Given the description of an element on the screen output the (x, y) to click on. 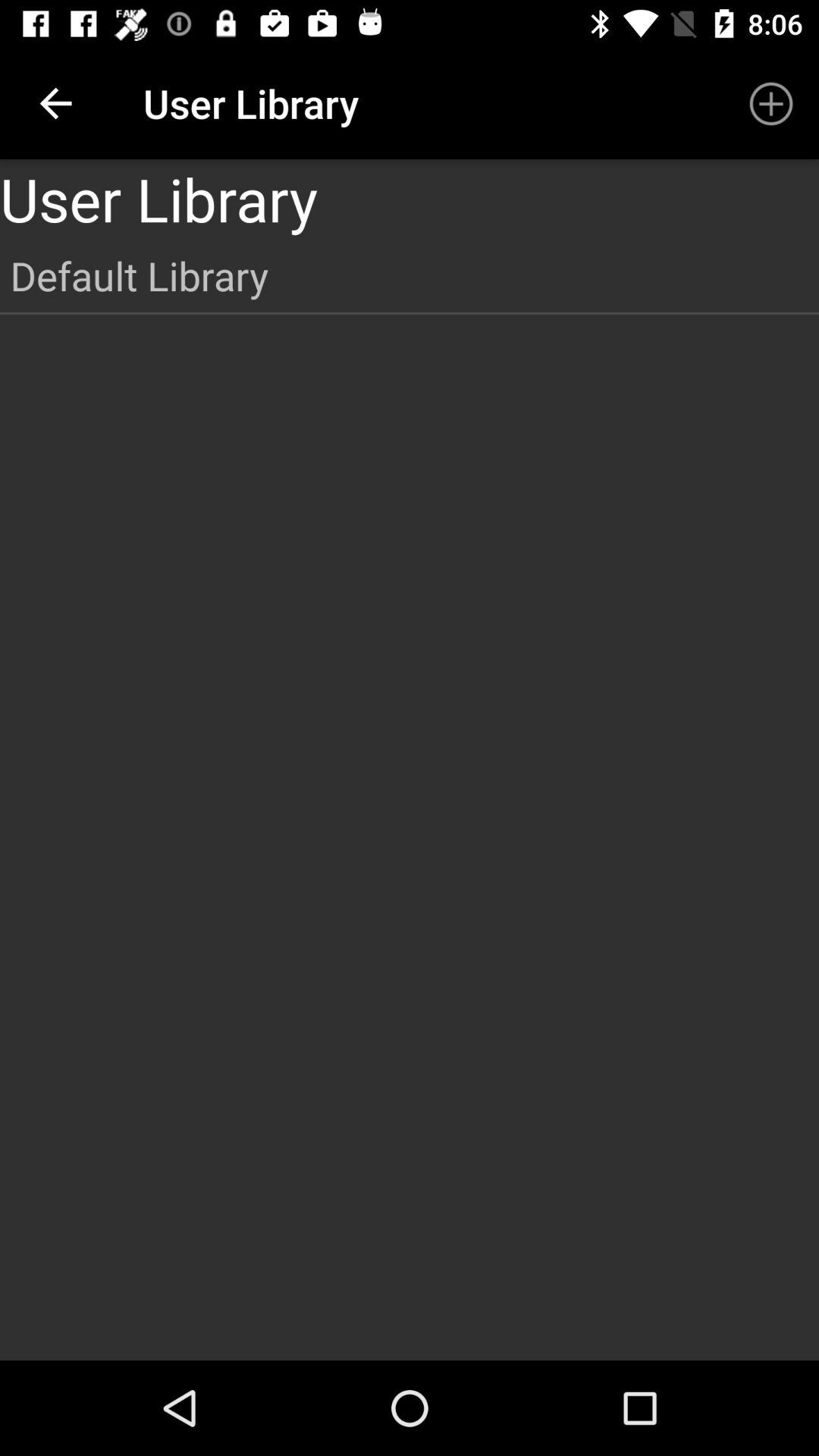
flip to default library icon (409, 275)
